Given the description of an element on the screen output the (x, y) to click on. 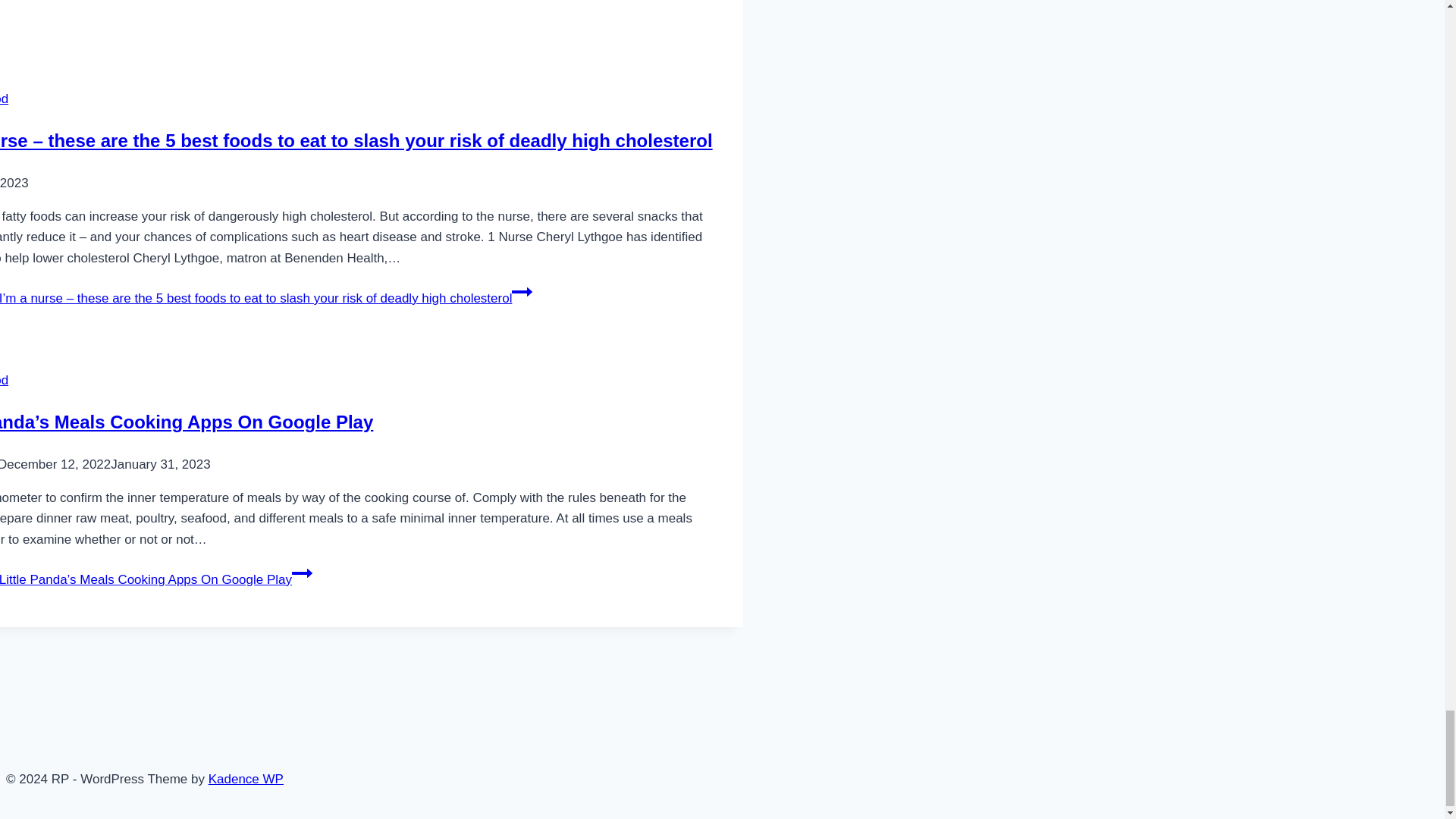
Continue (522, 291)
Healthy Food (4, 98)
Continue (302, 572)
